Given the description of an element on the screen output the (x, y) to click on. 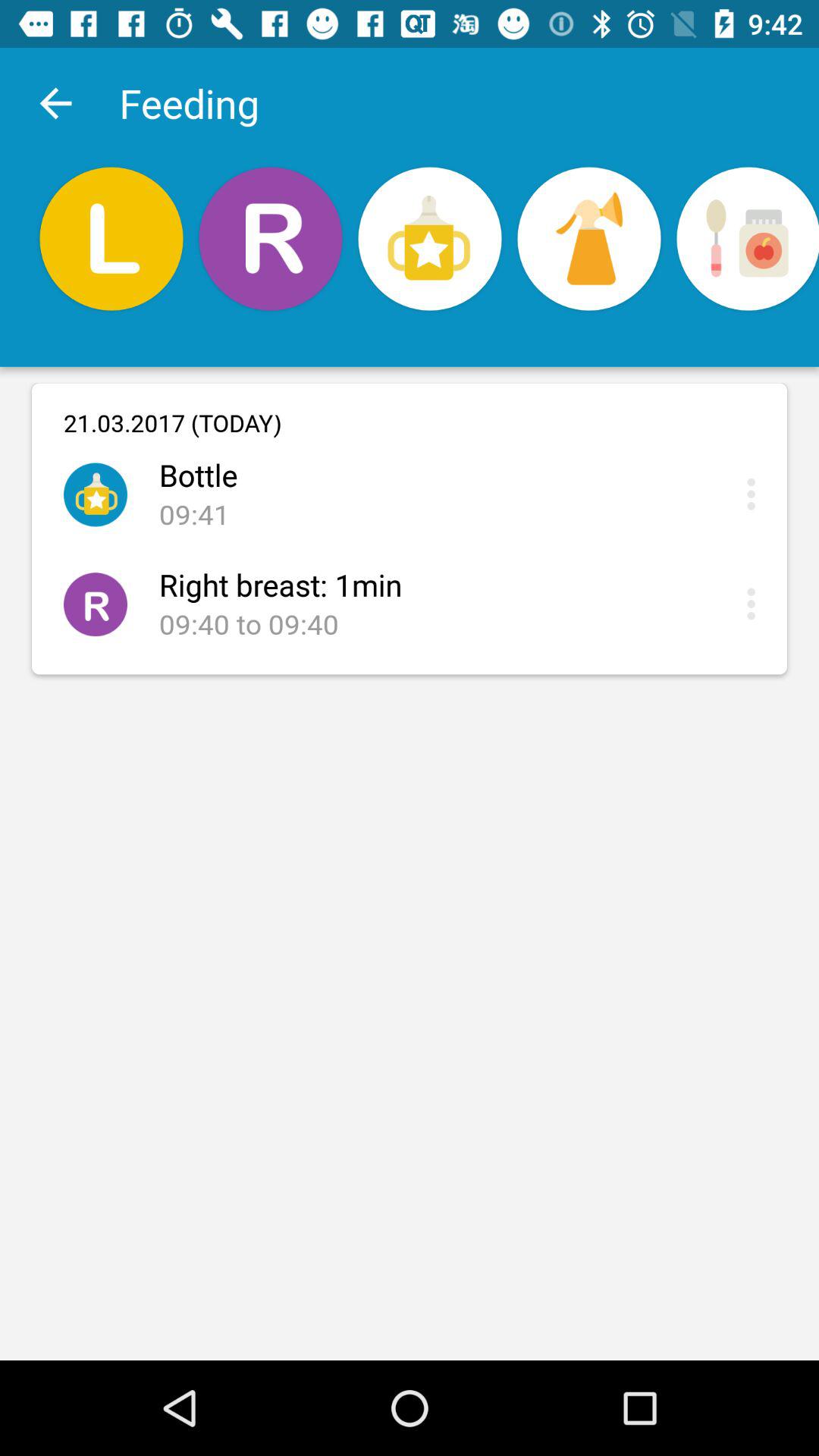
options (755, 493)
